Given the description of an element on the screen output the (x, y) to click on. 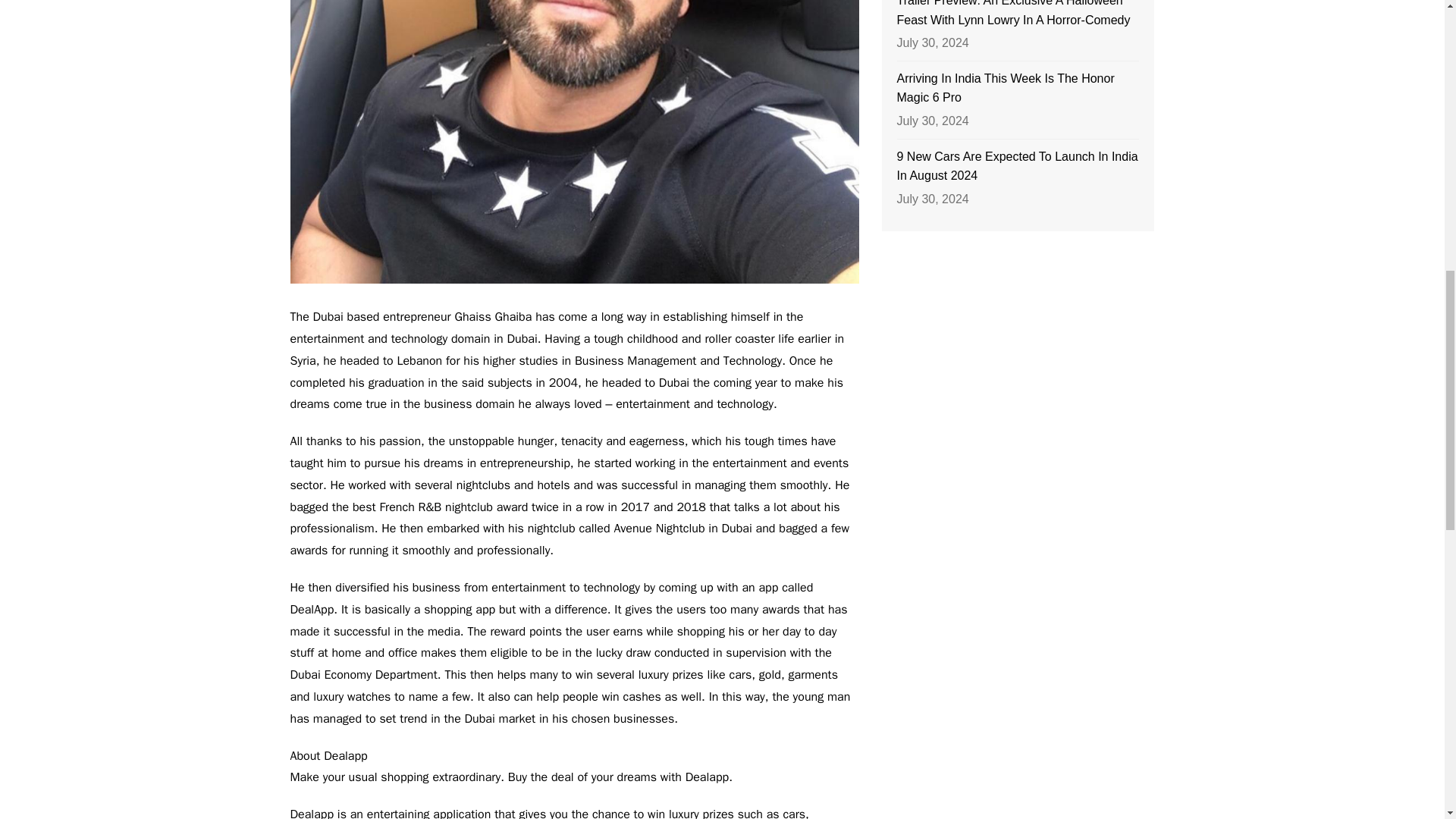
Arriving In India This Week Is The Honor Magic 6 Pro (1017, 87)
9 New Cars Are Expected To Launch In India In August 2024 (1017, 166)
